Given the description of an element on the screen output the (x, y) to click on. 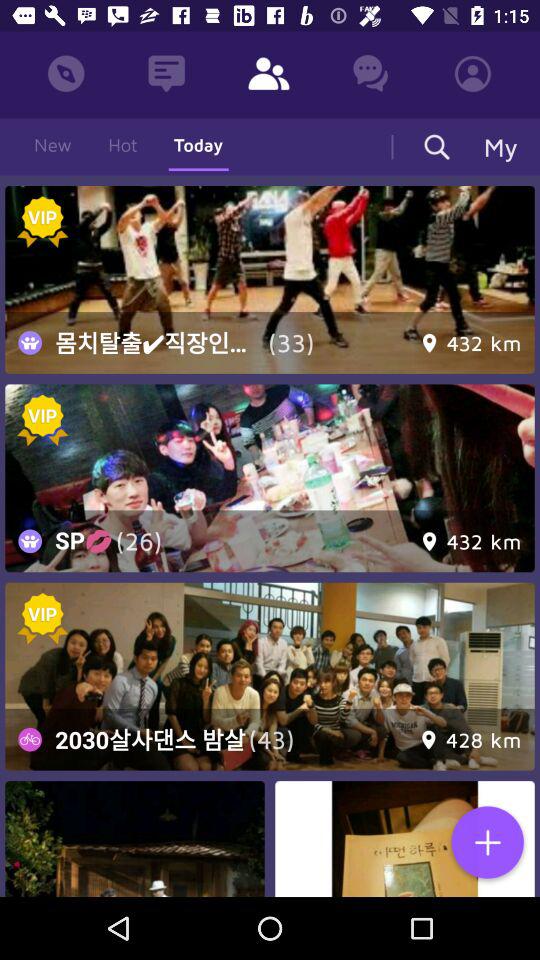
add new (487, 844)
